Given the description of an element on the screen output the (x, y) to click on. 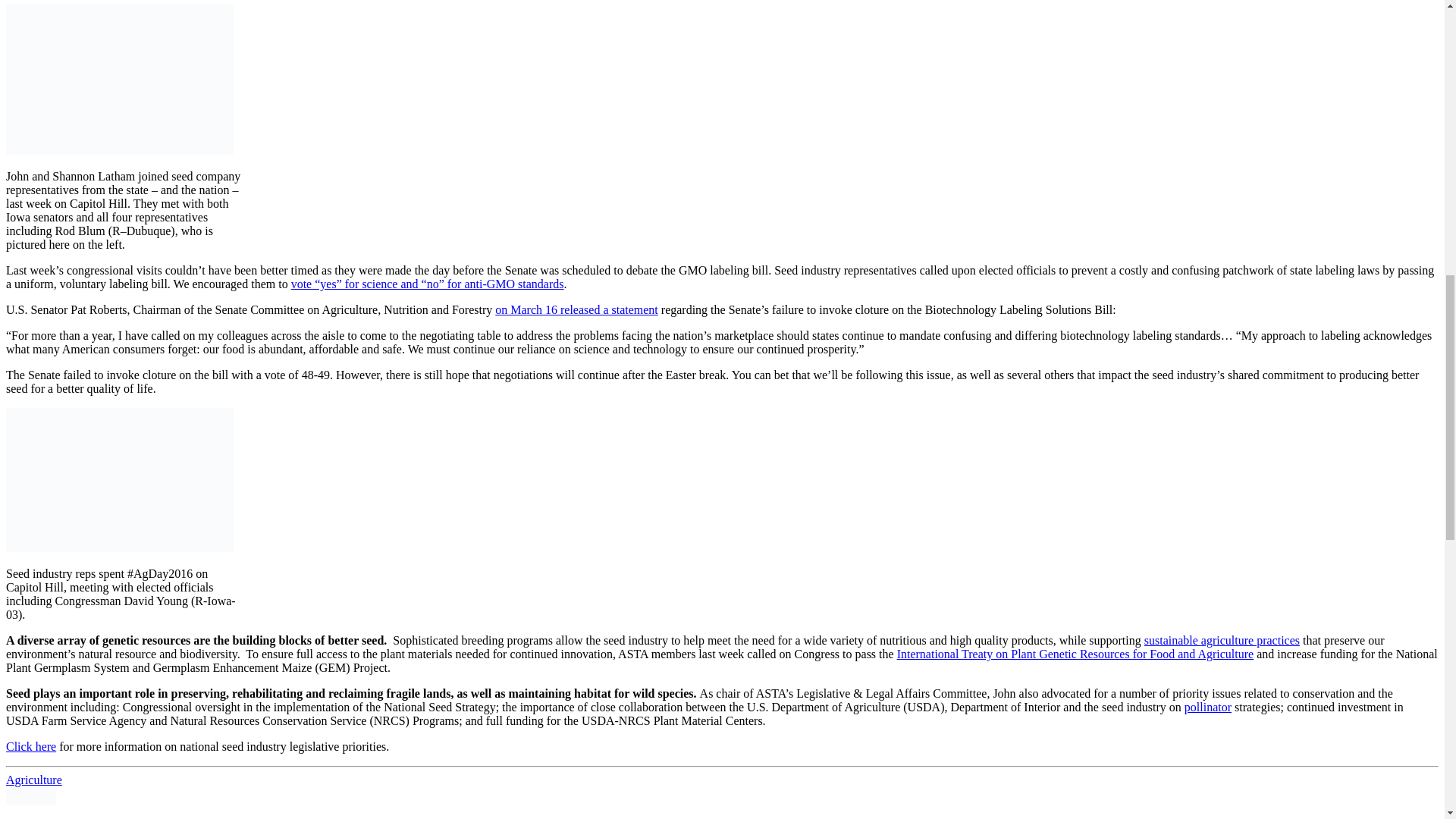
Agriculture (33, 779)
pollinator (1208, 707)
Click here (30, 746)
sustainable agriculture practices (1222, 640)
on March 16 released a statement (576, 309)
